Given the description of an element on the screen output the (x, y) to click on. 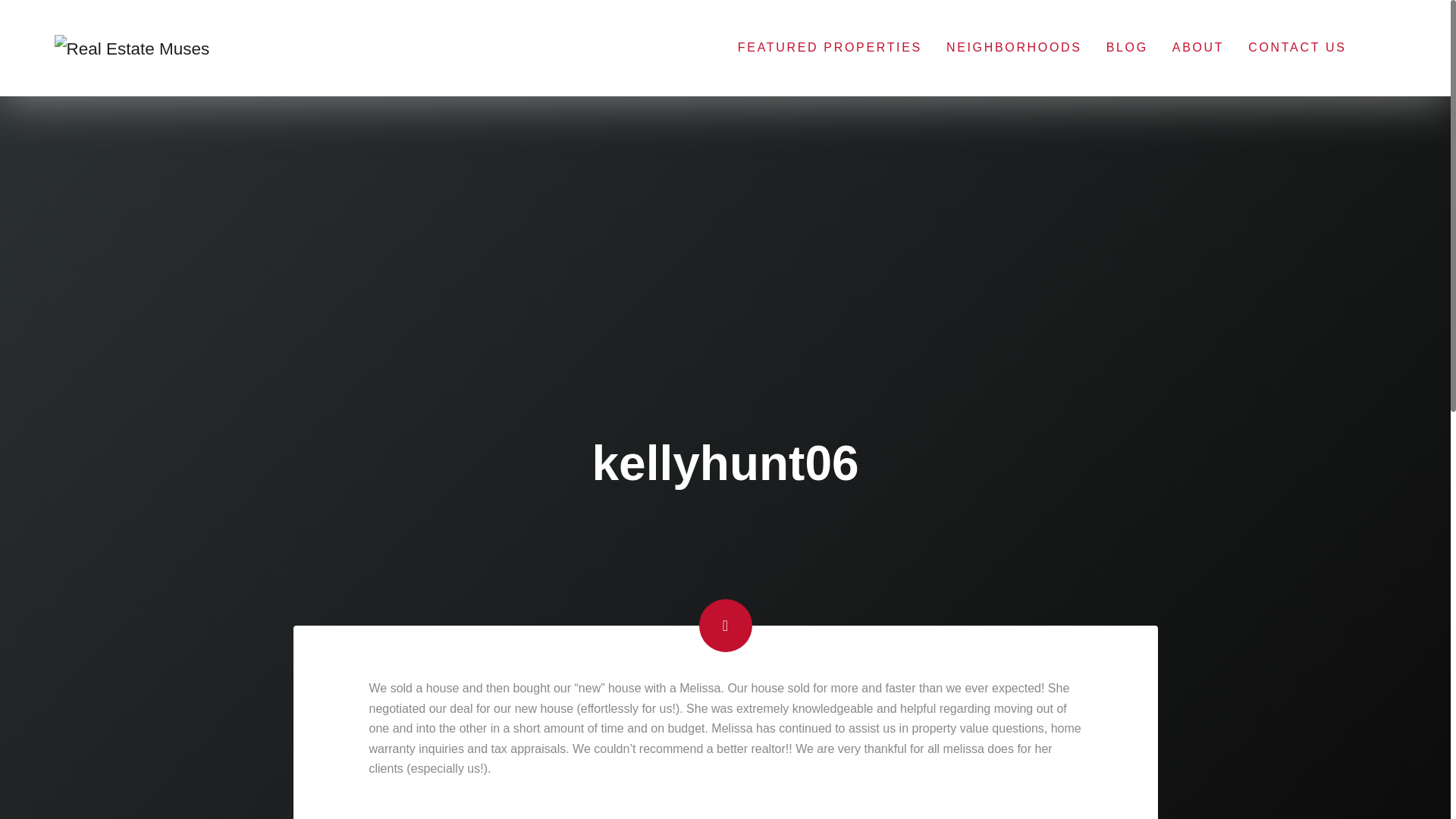
ABOUT (1198, 47)
NEIGHBORHOODS (1013, 47)
CONTACT US (1296, 47)
BLOG (1127, 47)
FEATURED PROPERTIES (829, 47)
